Given the description of an element on the screen output the (x, y) to click on. 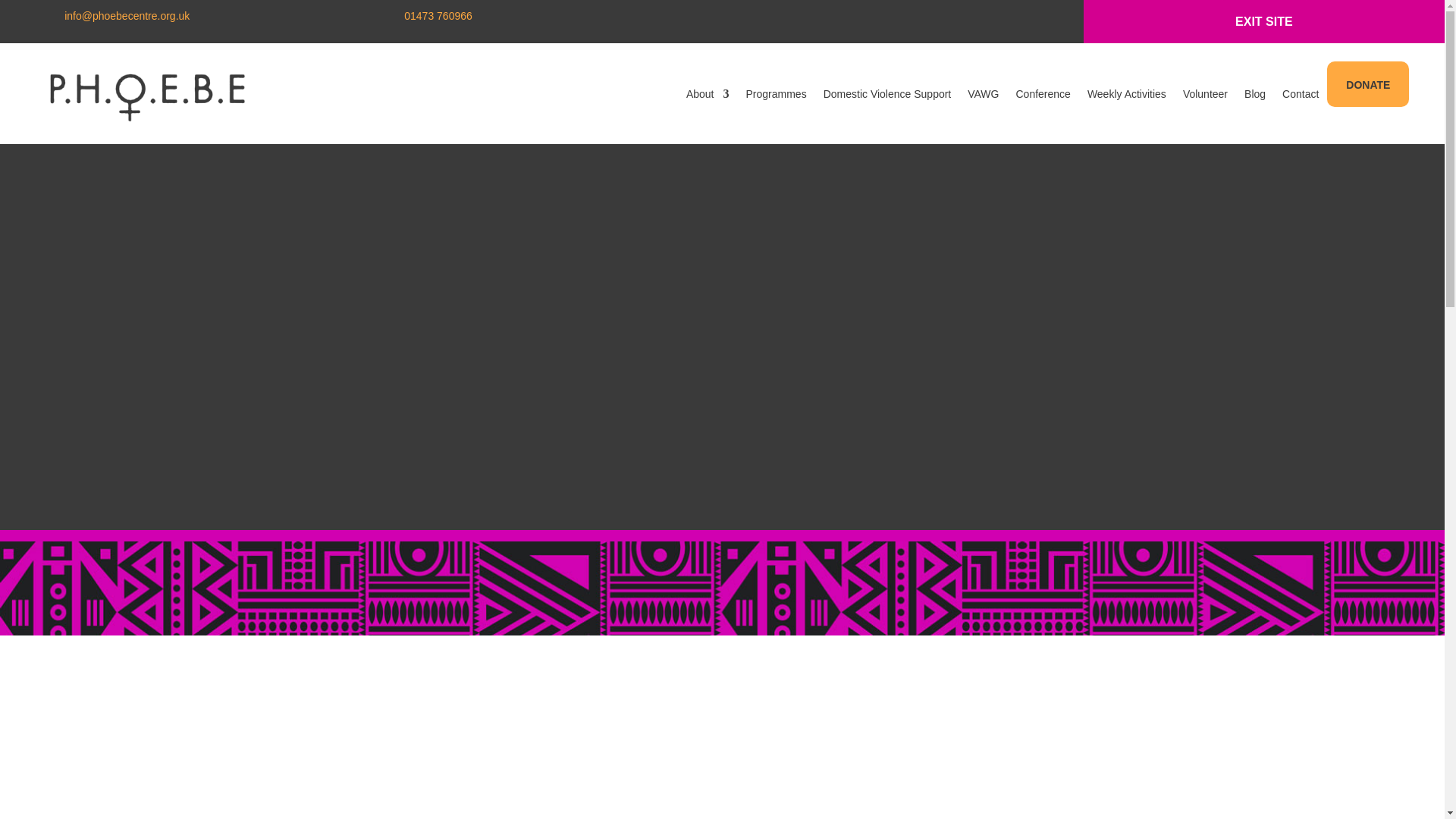
Domestic Violence Support (888, 93)
EXIT SITE (1263, 21)
01473 760966 (437, 15)
Programmes (775, 93)
DONATE (1367, 84)
Weekly Activities (1126, 93)
